Given the description of an element on the screen output the (x, y) to click on. 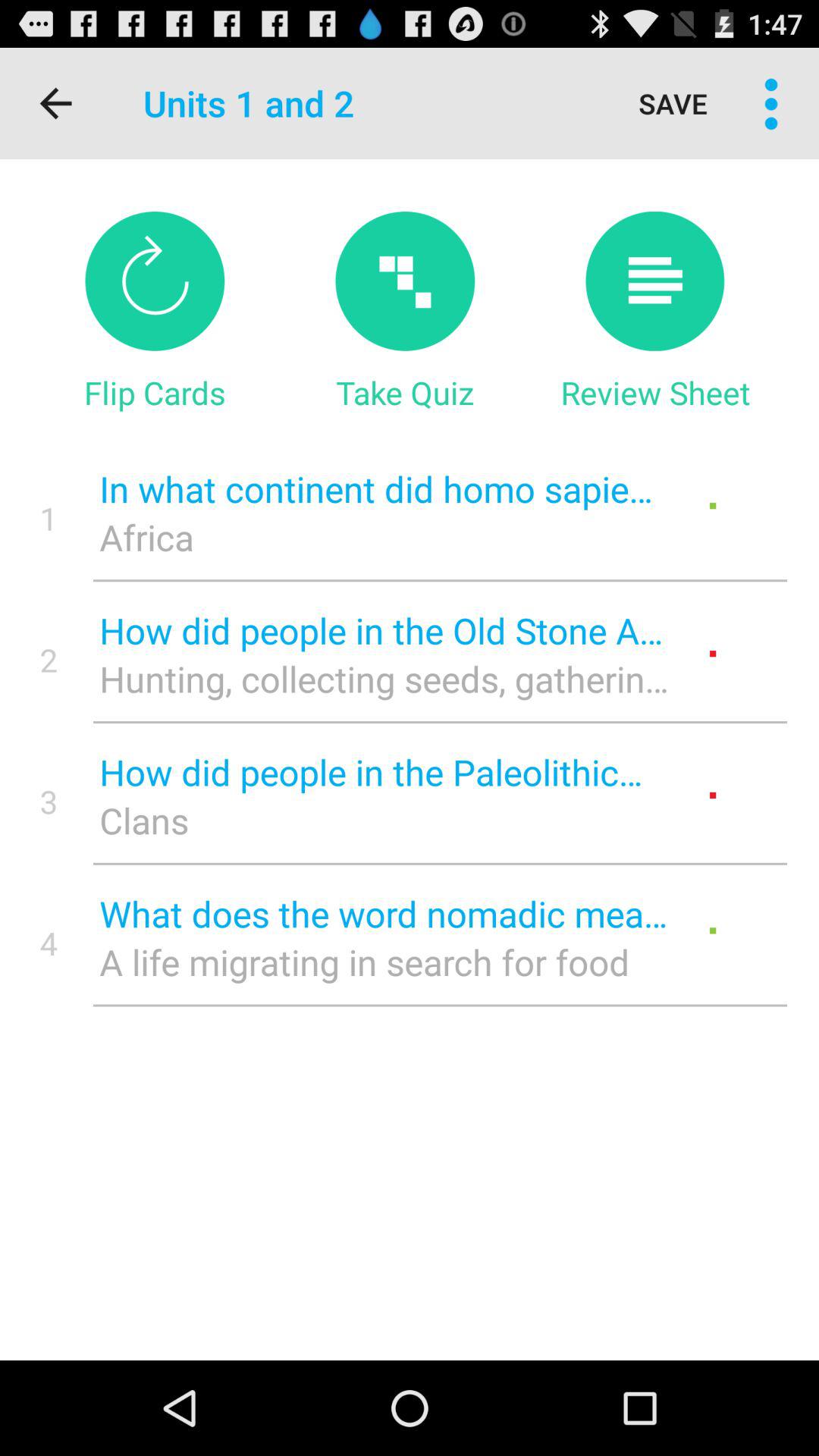
choose item to the left of review sheet icon (405, 392)
